Given the description of an element on the screen output the (x, y) to click on. 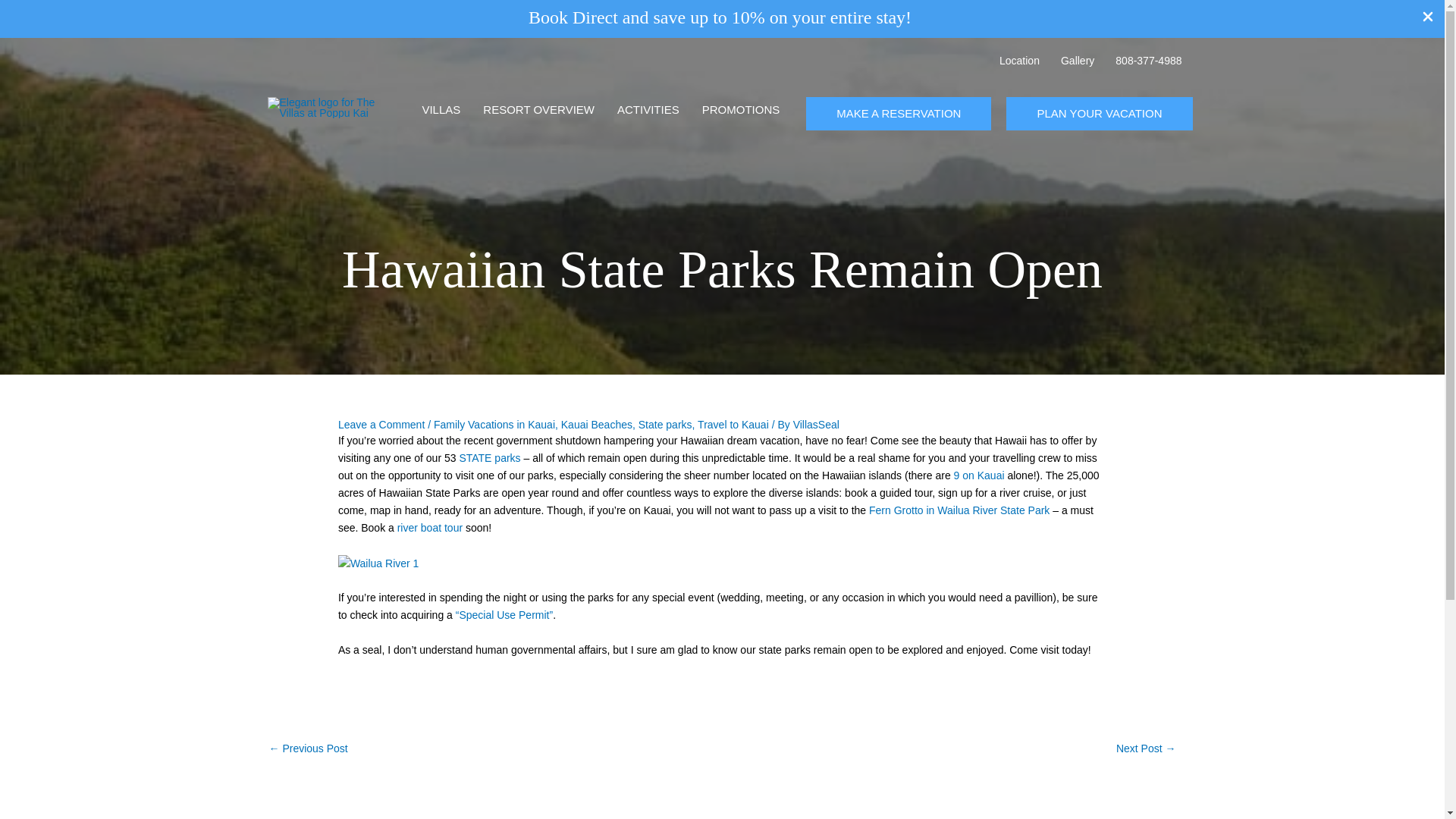
808-377-4988 (1148, 60)
Travelling Green in Kauai (307, 749)
Kauai Beaches (595, 424)
Fern Grotto in Wailua River State Park (959, 510)
State parks (666, 424)
VillasSeal (816, 424)
9 on Kauai (978, 475)
PLAN YOUR VACATION (1099, 114)
Location (1018, 60)
Gallery (1077, 60)
